Given the description of an element on the screen output the (x, y) to click on. 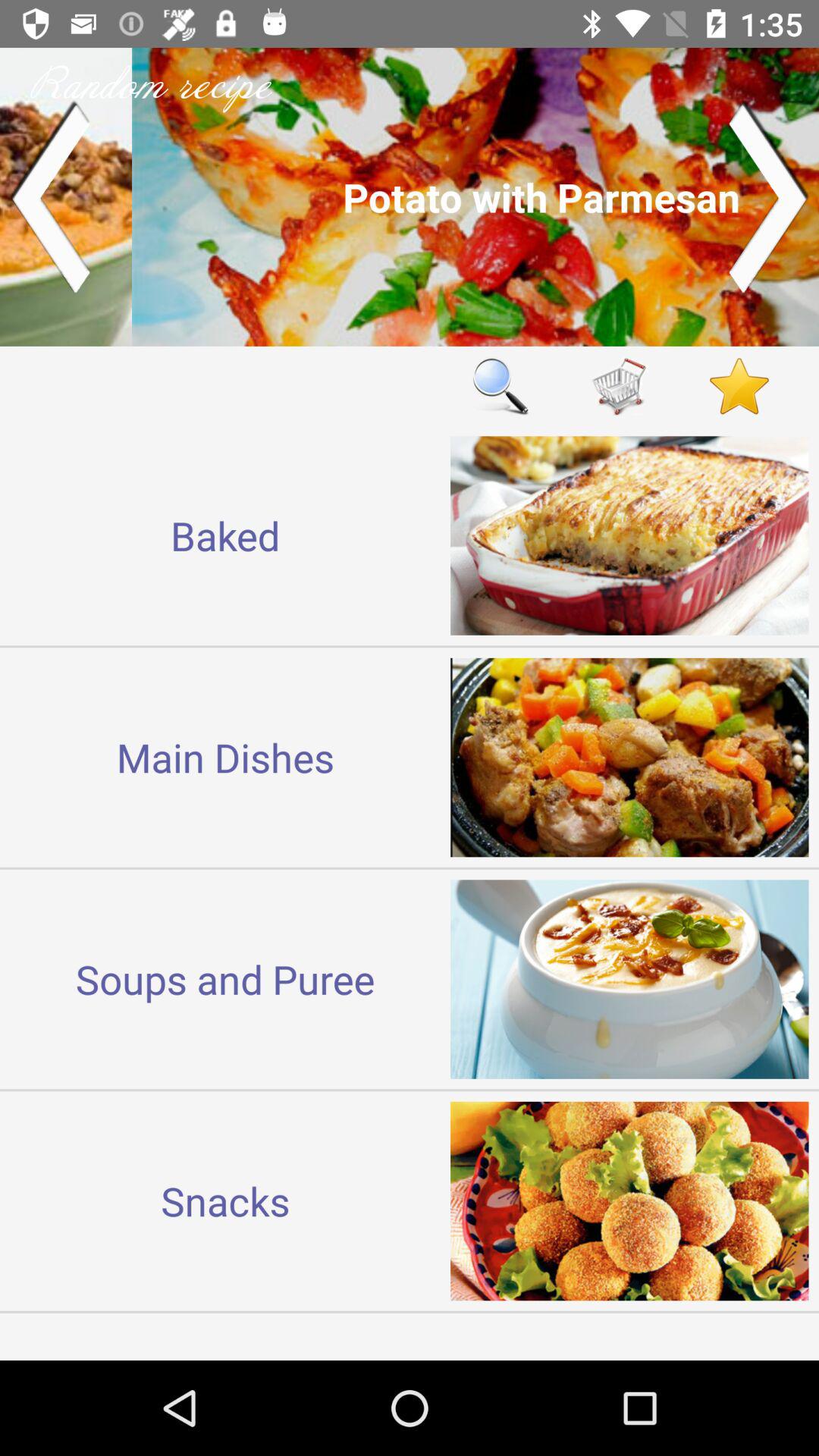
turn off the main dishes (225, 756)
